Given the description of an element on the screen output the (x, y) to click on. 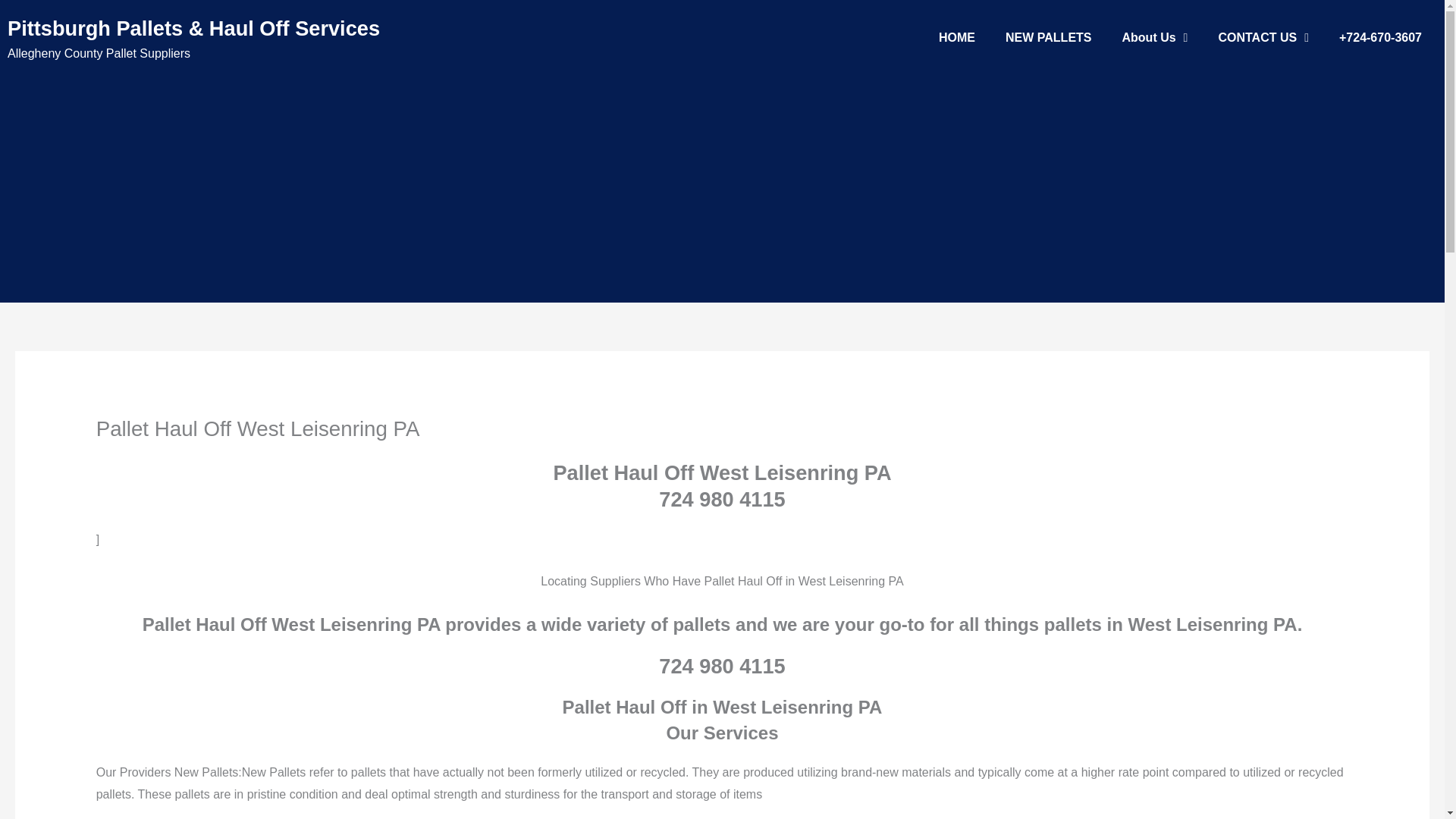
NEW PALLETS (1048, 37)
About Us (1155, 37)
CONTACT US (1262, 37)
HOME (956, 37)
